Given the description of an element on the screen output the (x, y) to click on. 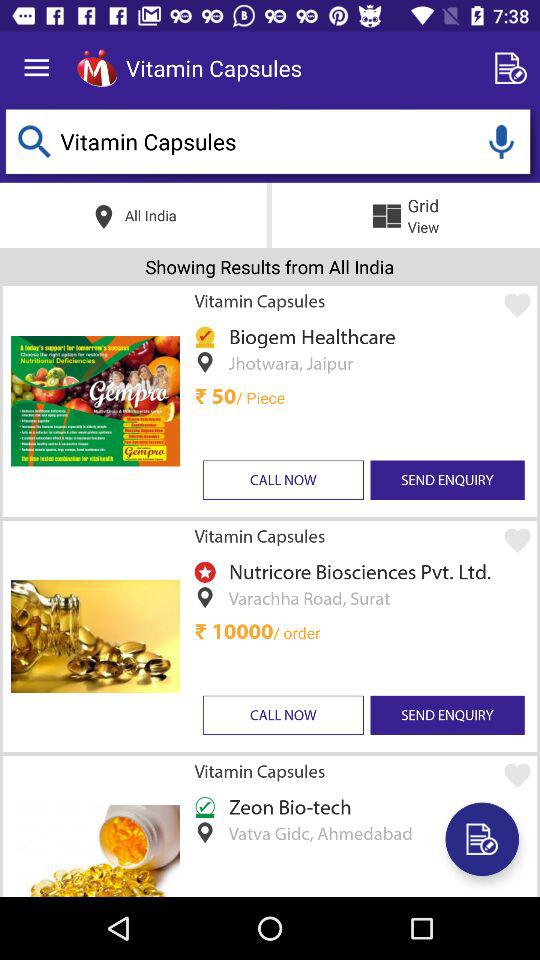
press icon above the vatva gidc, ahmedabad item (286, 806)
